Given the description of an element on the screen output the (x, y) to click on. 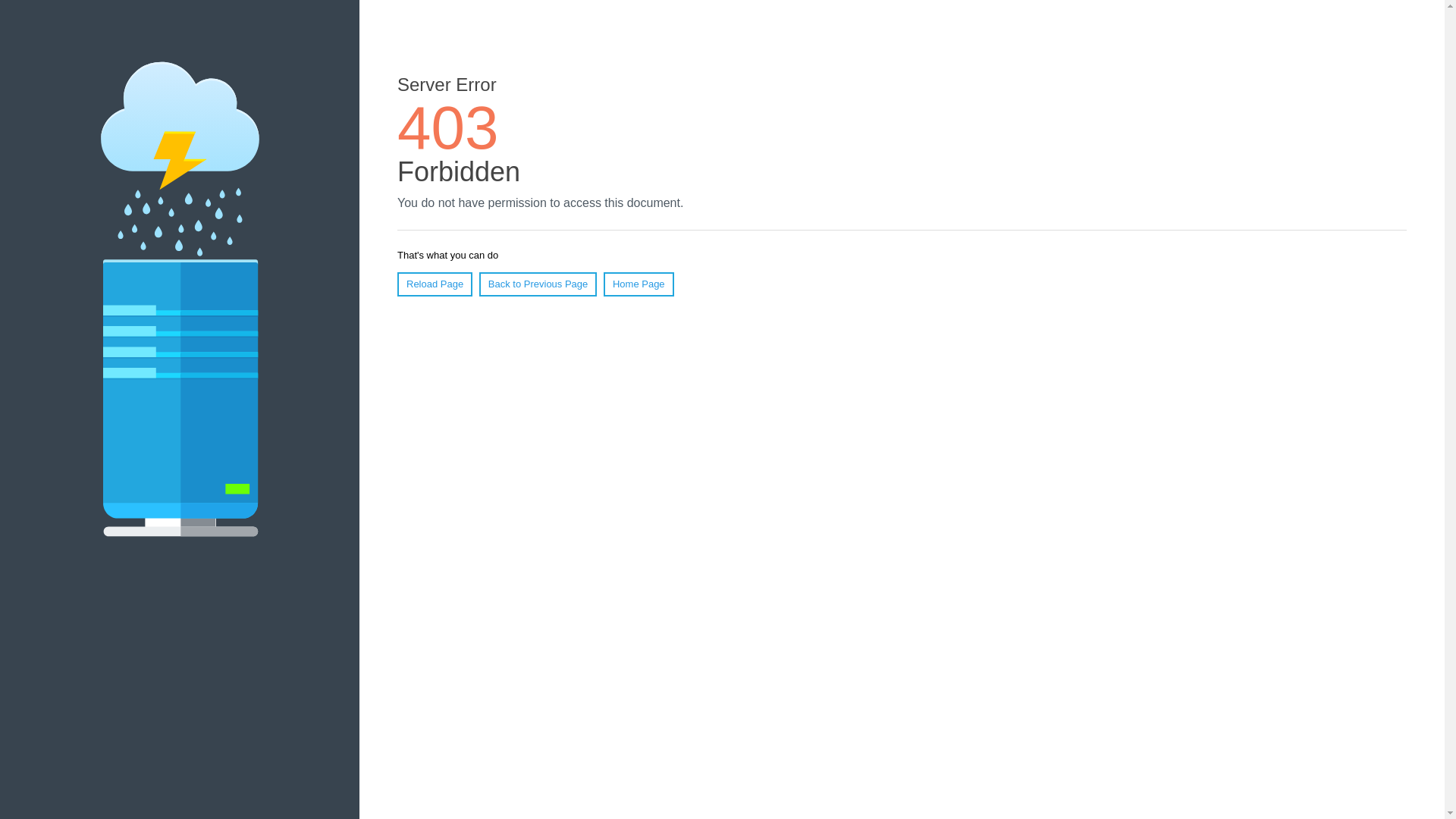
Home Page (639, 283)
Reload Page (434, 283)
Back to Previous Page (537, 283)
